Given the description of an element on the screen output the (x, y) to click on. 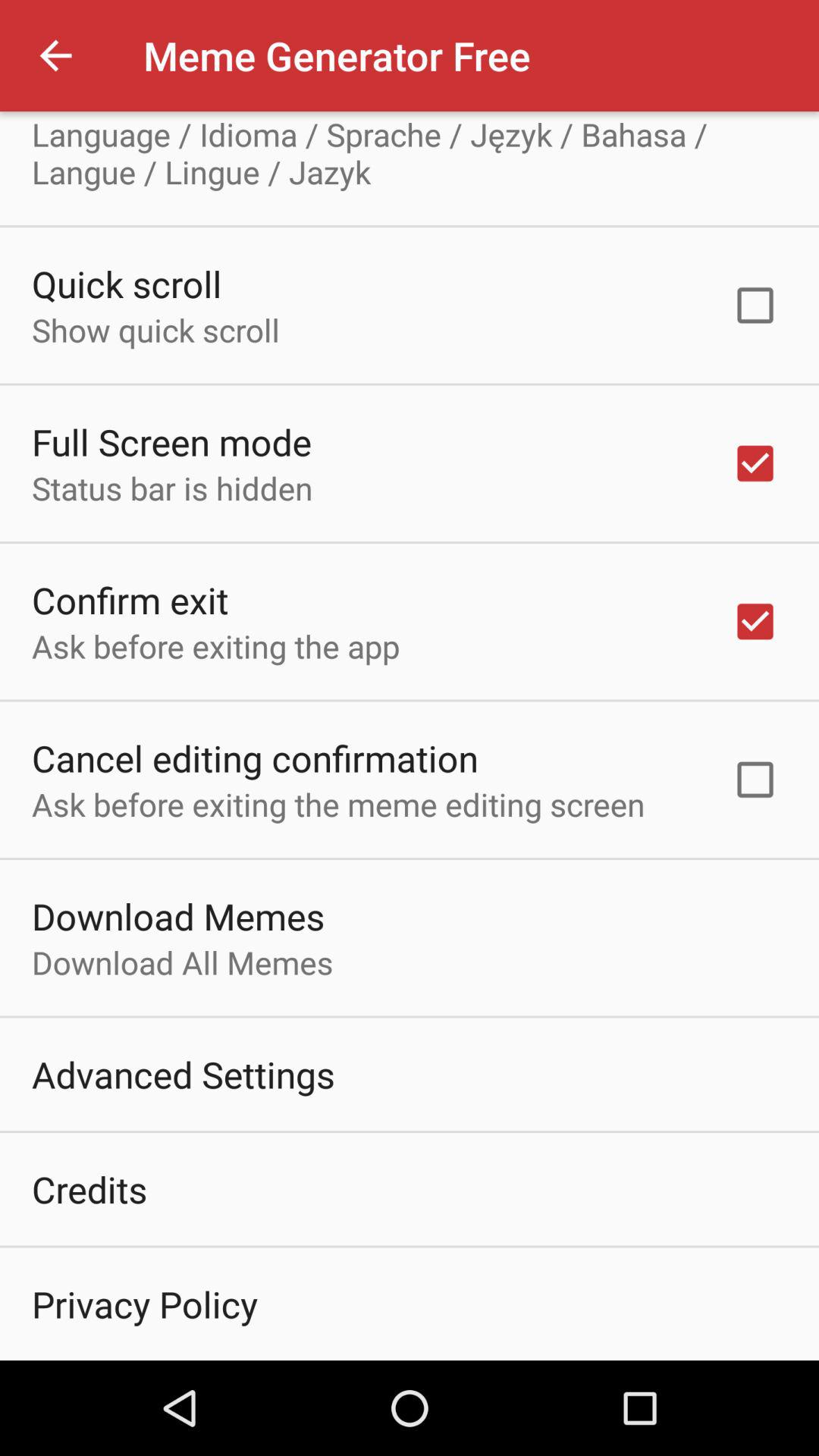
open the icon above the status bar is icon (171, 441)
